Given the description of an element on the screen output the (x, y) to click on. 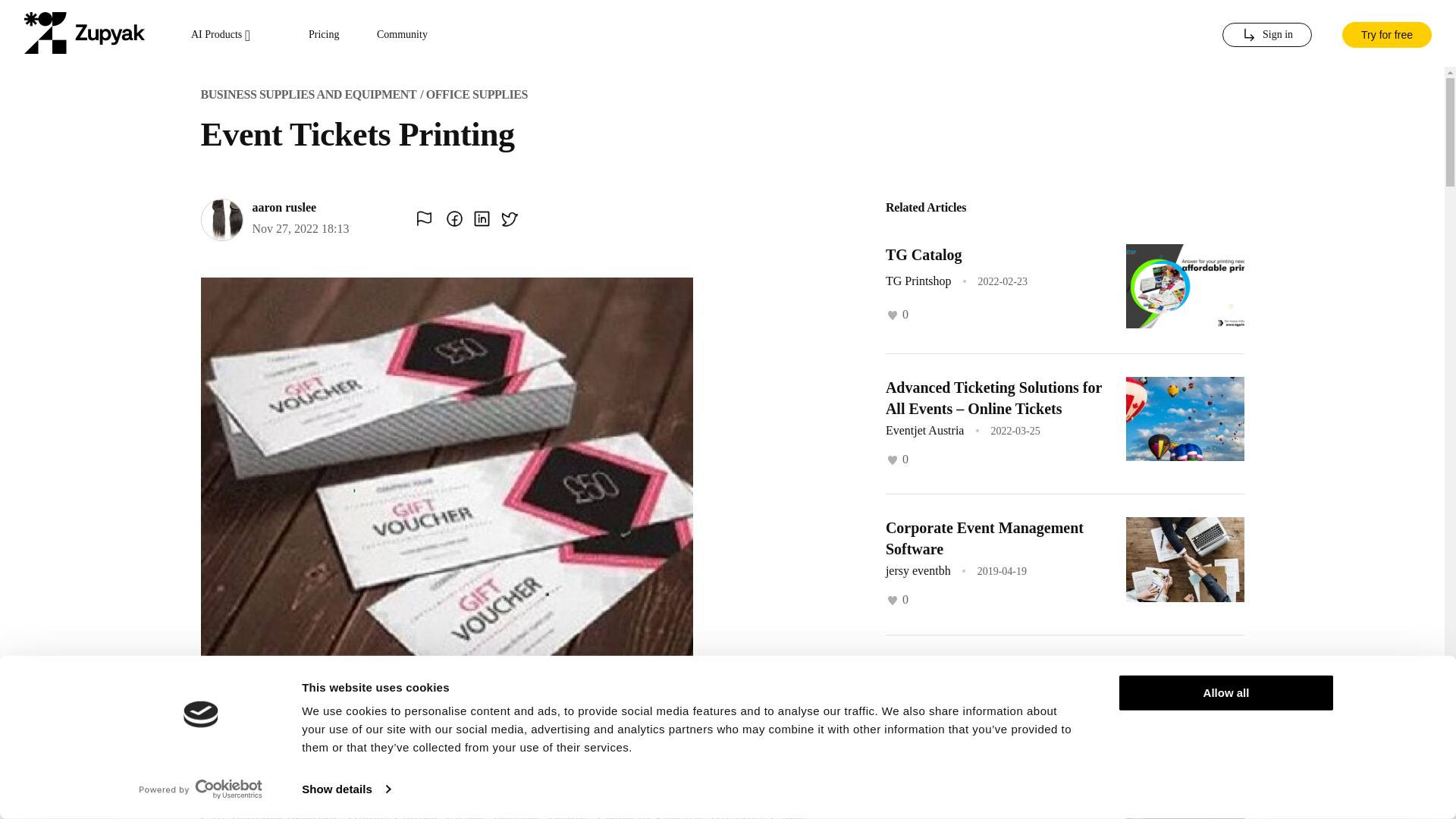
Show details (345, 789)
Miss Chinese International 2019 (989, 808)
TG Catalog (923, 254)
Corporate Event Management Software (984, 538)
